Given the description of an element on the screen output the (x, y) to click on. 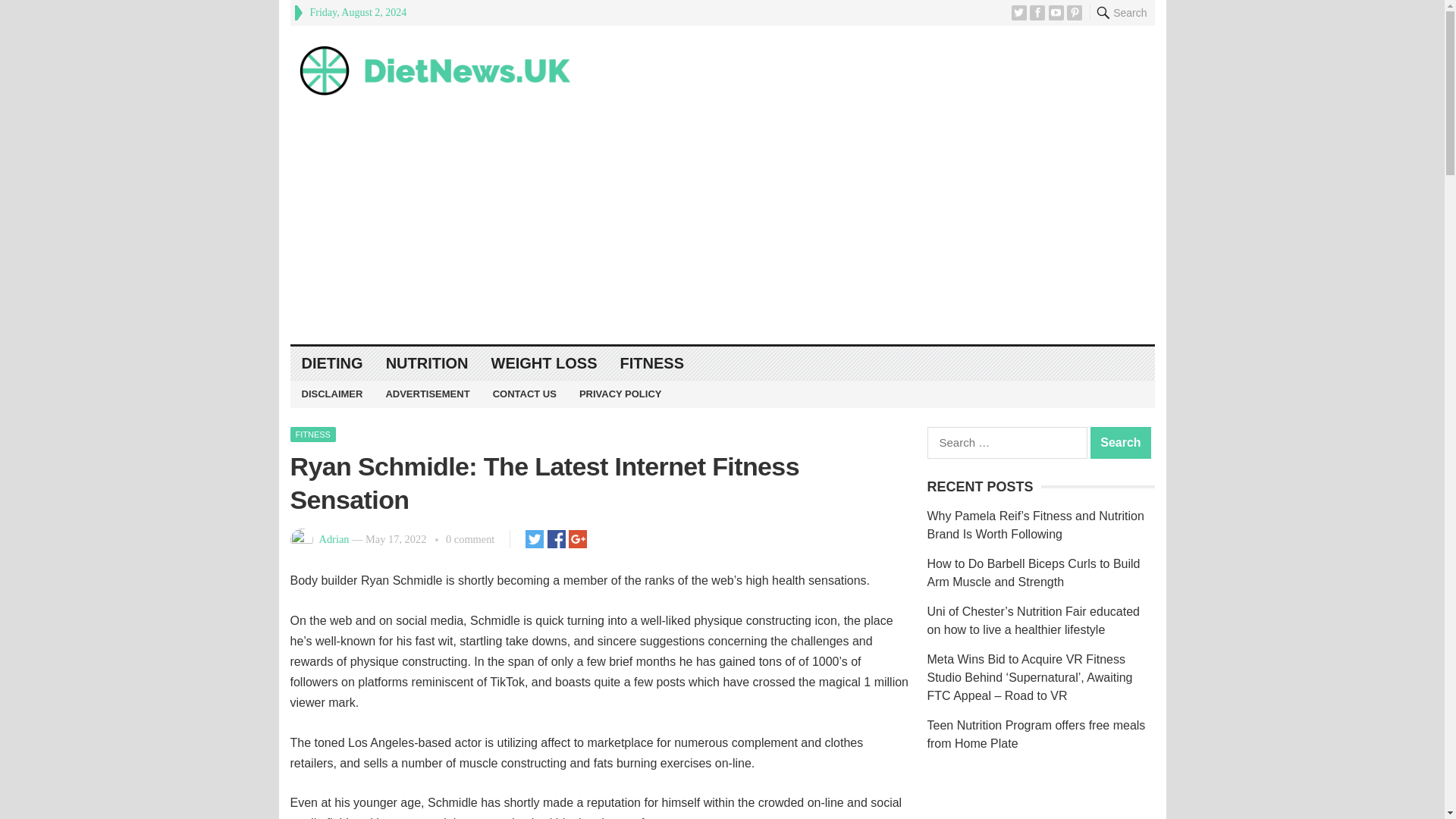
DIETING (331, 363)
FITNESS (651, 363)
DISCLAIMER (331, 393)
Search (1120, 442)
Adrian (333, 539)
0 comment (470, 539)
ADVERTISEMENT (427, 393)
NUTRITION (427, 363)
Posts by Adrian (333, 539)
Search (1120, 442)
View all posts in Fitness (311, 434)
CONTACT US (524, 393)
PRIVACY POLICY (619, 393)
FITNESS (311, 434)
